Given the description of an element on the screen output the (x, y) to click on. 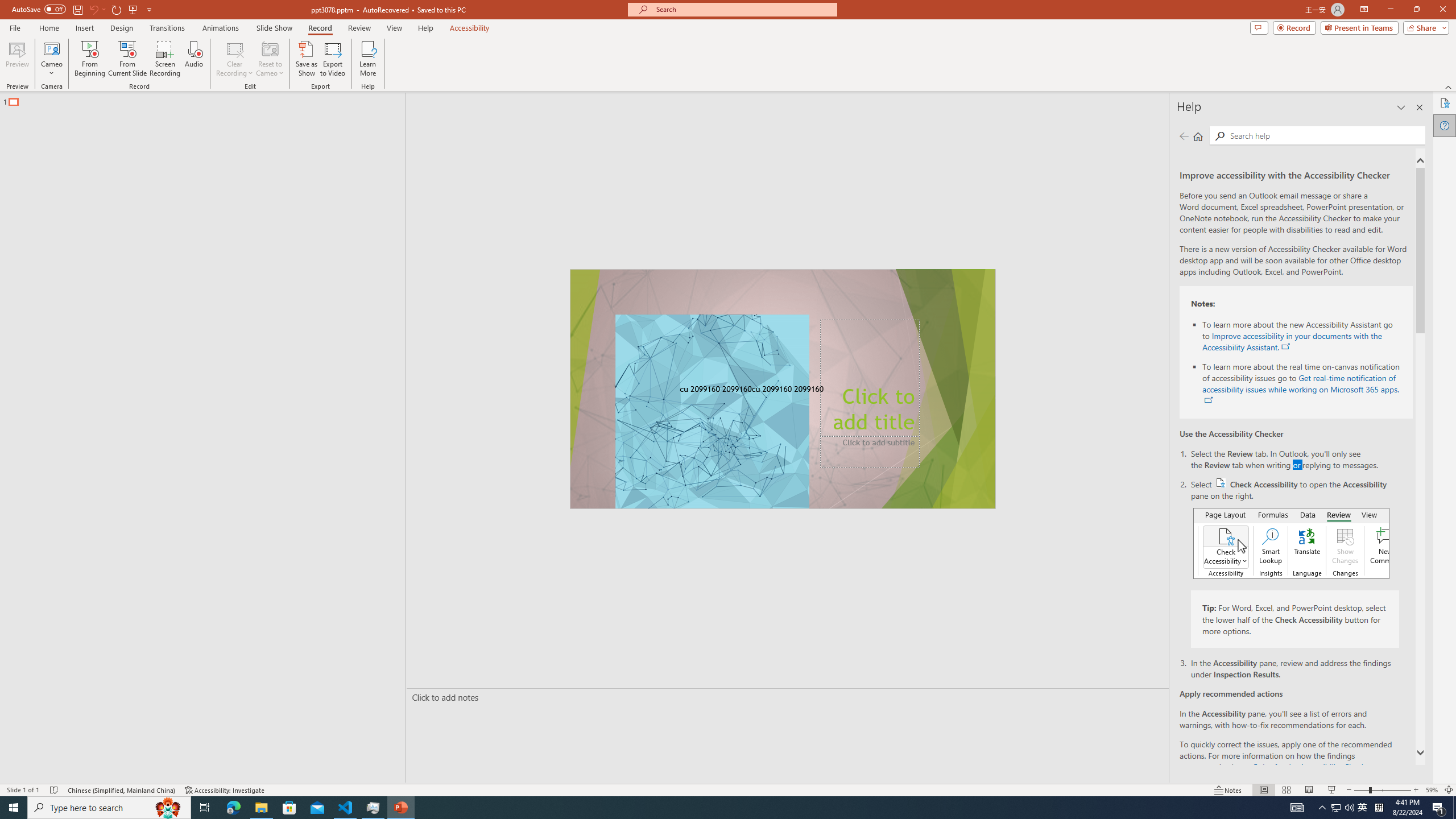
Accessibility checker button on ribbon (1291, 543)
